Given the description of an element on the screen output the (x, y) to click on. 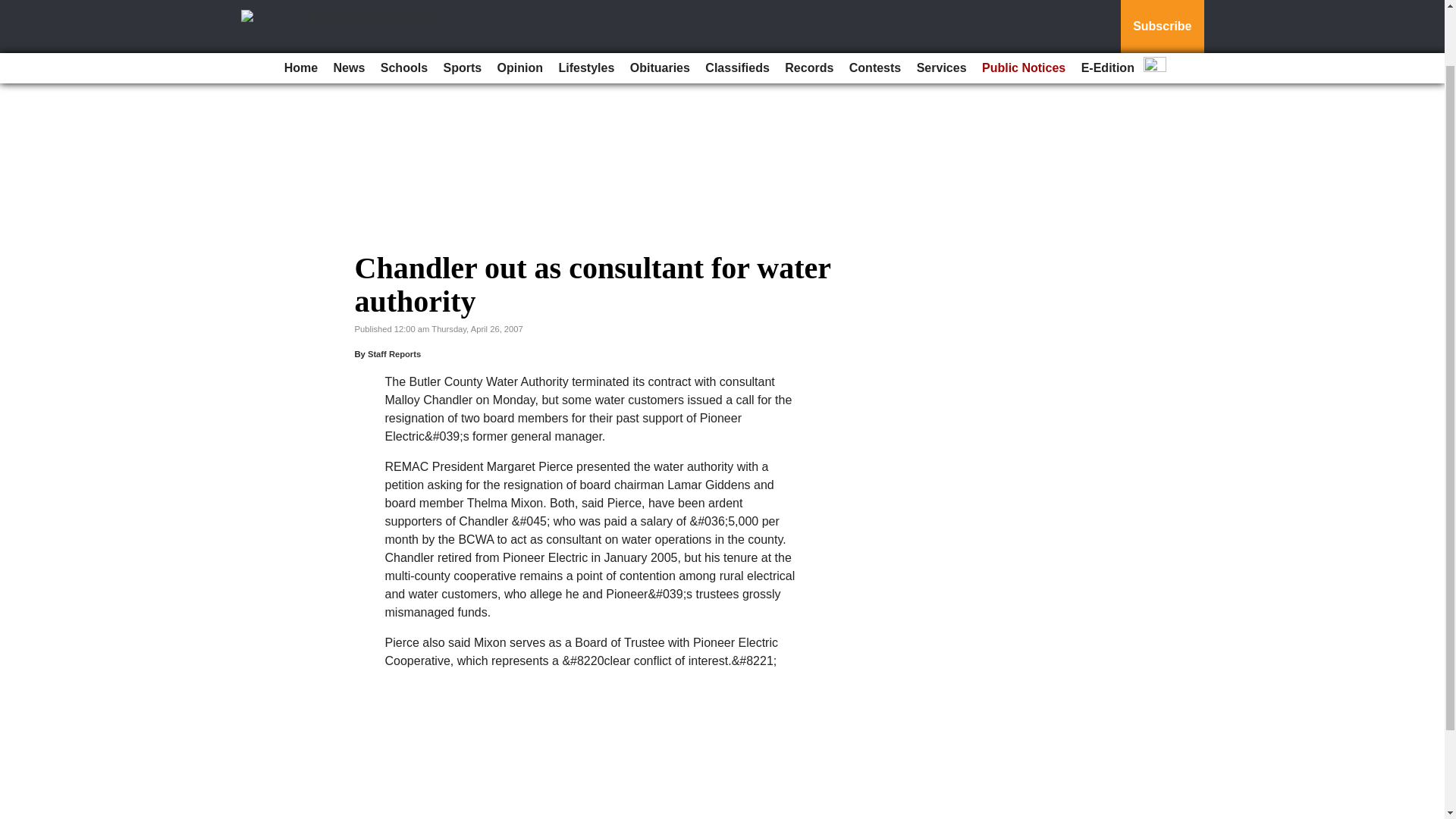
Contests (875, 7)
Public Notices (1023, 7)
Classifieds (736, 7)
Opinion (520, 7)
Lifestyles (585, 7)
Sports (461, 7)
Home (300, 7)
Obituaries (659, 7)
Records (809, 7)
E-Edition (1107, 7)
